Given the description of an element on the screen output the (x, y) to click on. 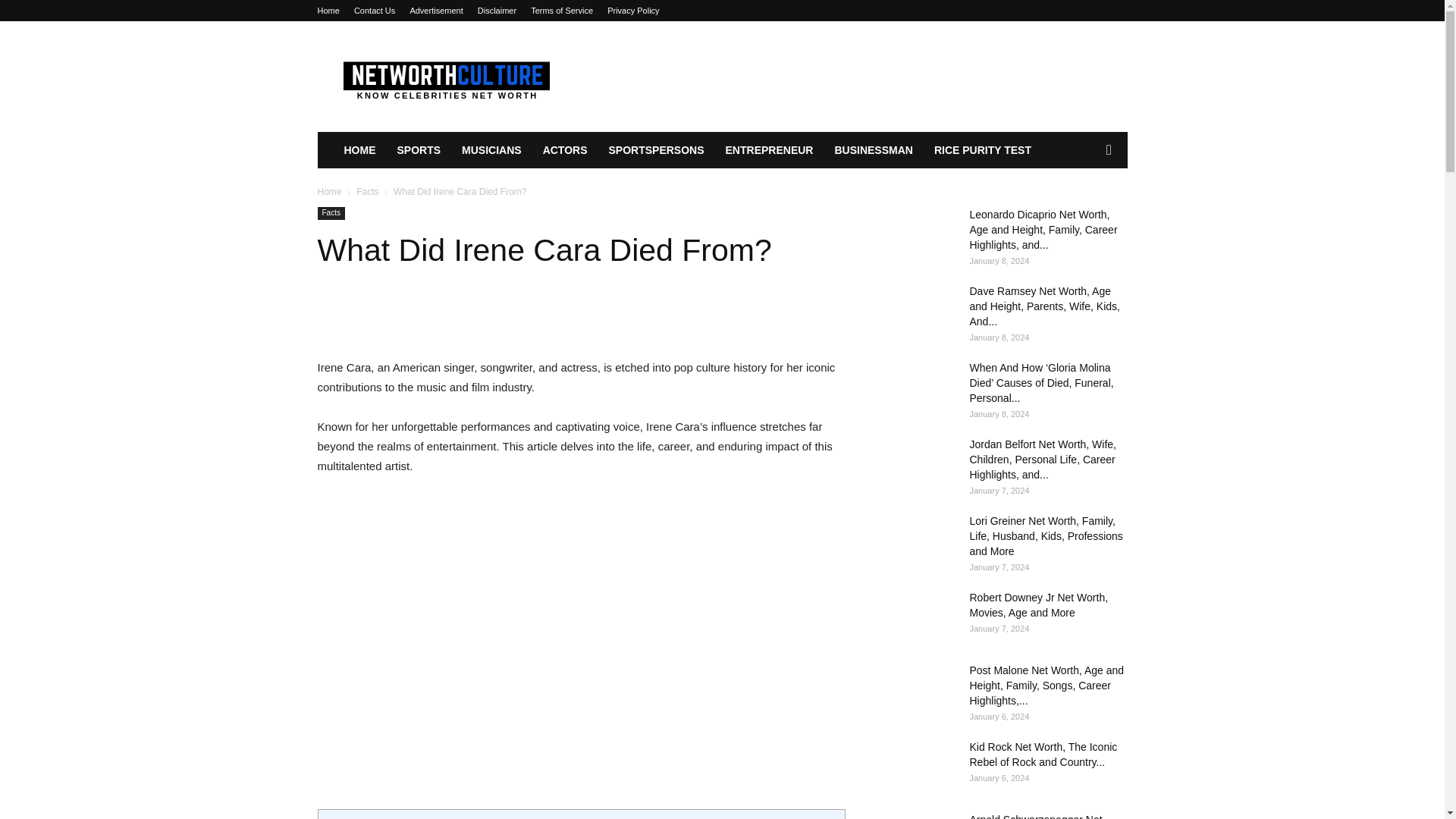
HOME (360, 149)
MUSICIANS (491, 149)
Advertisement (436, 10)
Search (1085, 210)
Contact Us (373, 10)
Home (328, 191)
Terms of Service (561, 10)
Facts (330, 213)
Disclaimer (496, 10)
Facts (367, 191)
SPORTSPERSONS (655, 149)
Home (328, 10)
ACTORS (565, 149)
BUSINESSMAN (873, 149)
SPORTS (419, 149)
